Given the description of an element on the screen output the (x, y) to click on. 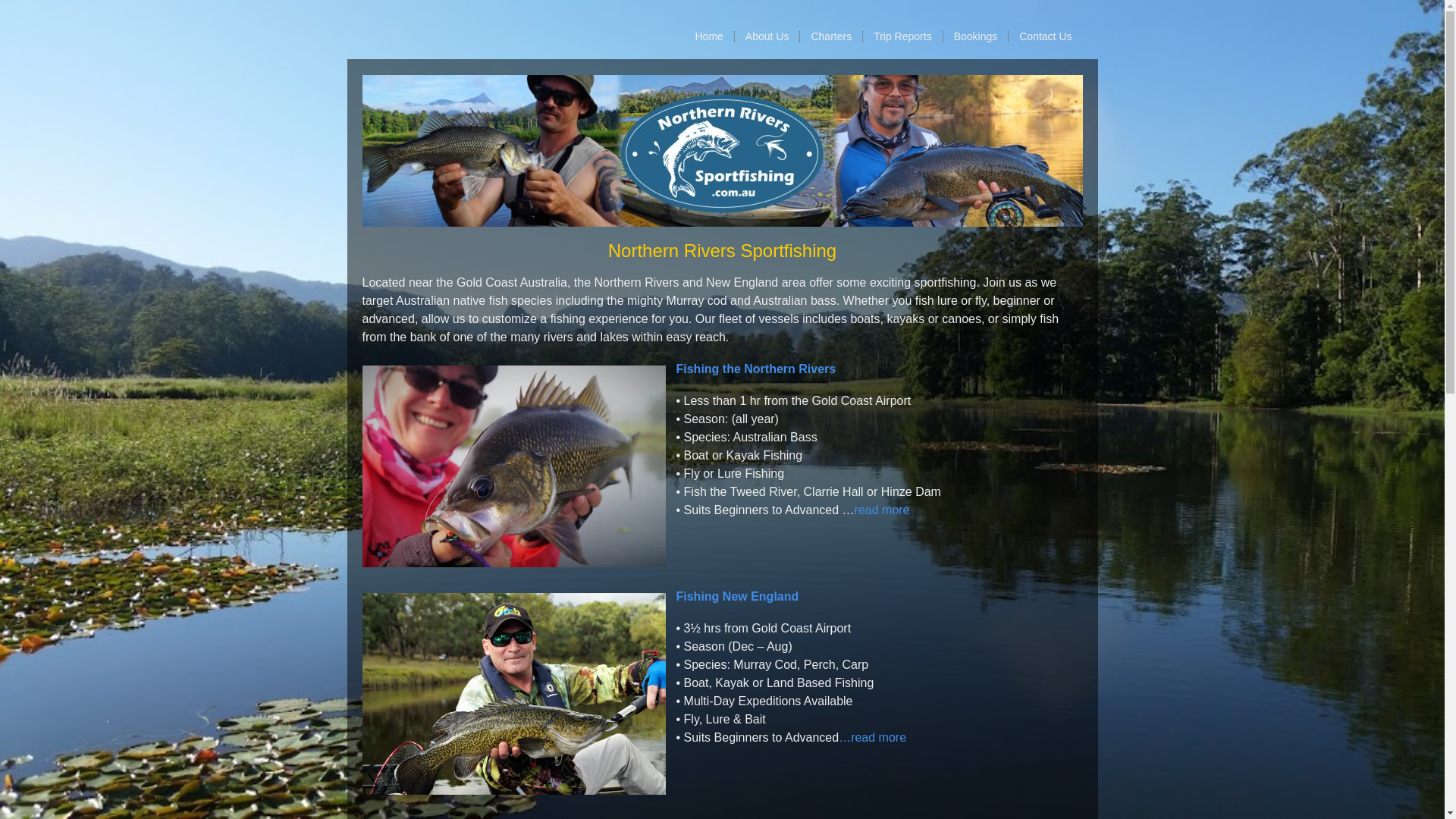
Trip Reports Element type: text (902, 36)
Charters Element type: text (831, 36)
Home Element type: text (709, 36)
Bookings Element type: text (976, 36)
Fishing the Northern Rivers Element type: text (756, 368)
read more Element type: text (882, 509)
About Us Element type: text (767, 36)
Fishing New England Element type: text (737, 595)
Contact Us Element type: text (1045, 36)
